Given the description of an element on the screen output the (x, y) to click on. 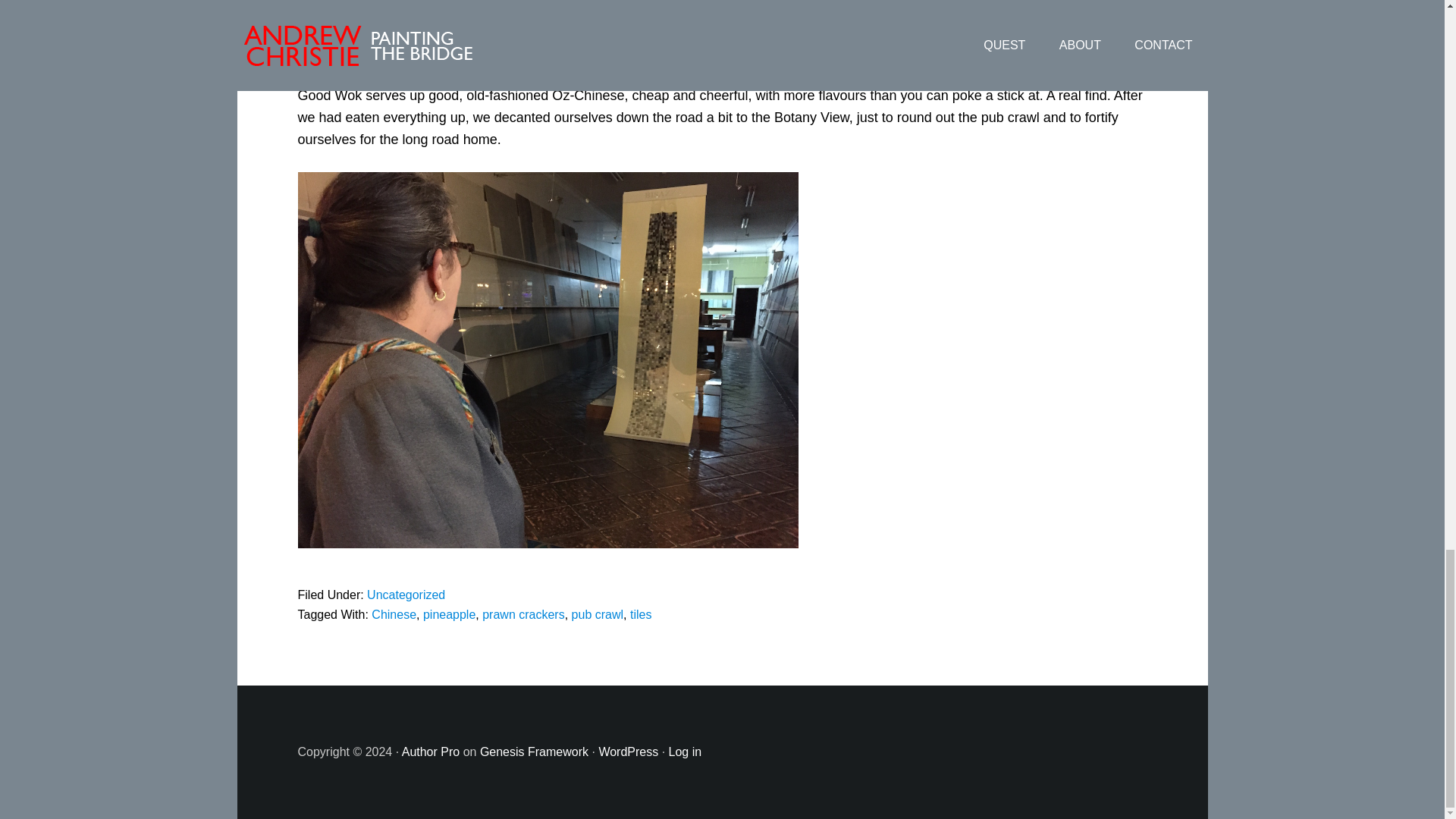
pub crawl (597, 614)
pineapple (449, 614)
Log in (684, 751)
Uncategorized (405, 594)
Author Pro (430, 751)
WordPress (628, 751)
Genesis Framework (534, 751)
tiles (640, 614)
Chinese (393, 614)
prawn crackers (522, 614)
